Given the description of an element on the screen output the (x, y) to click on. 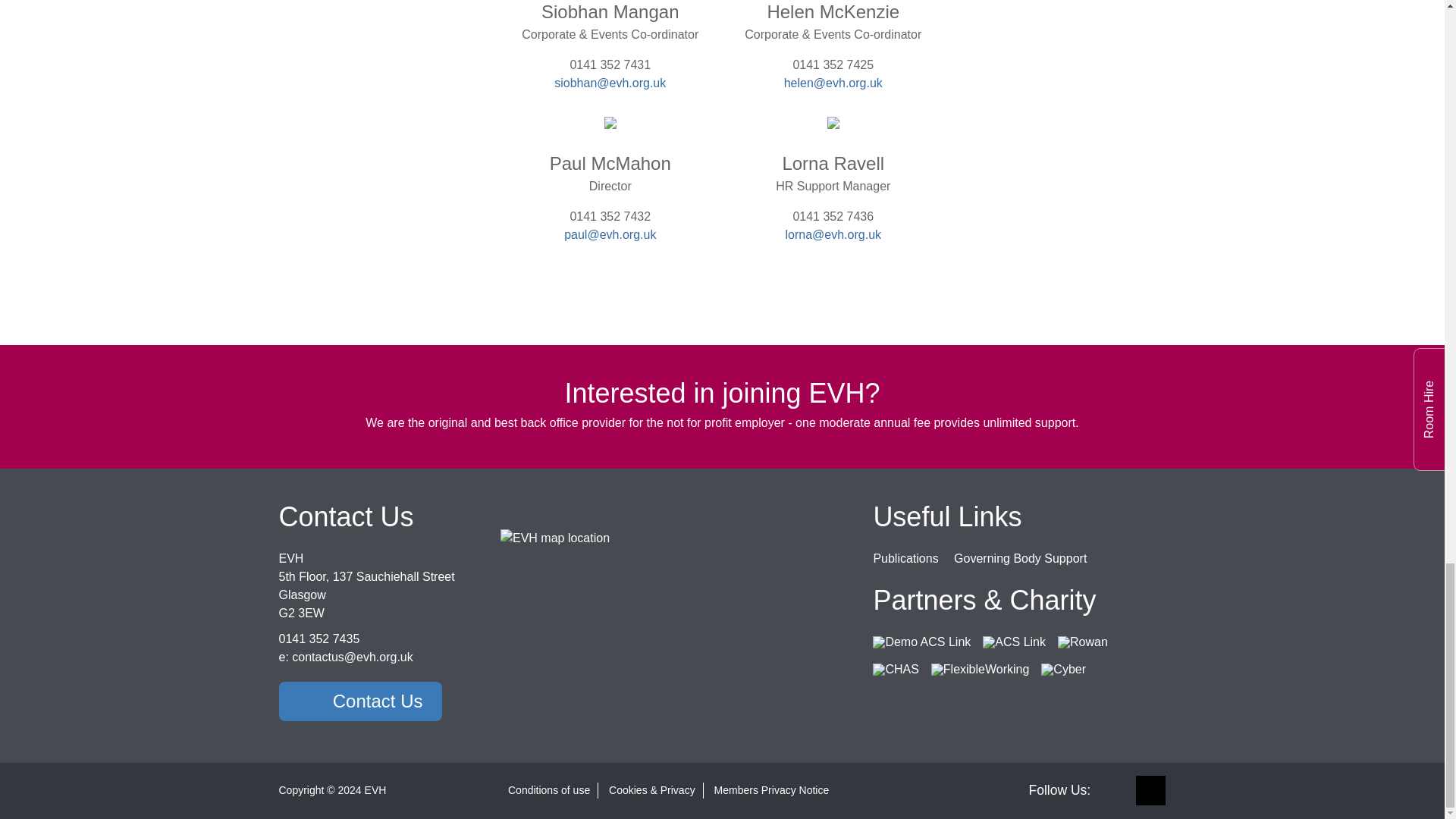
View on Google Maps (555, 536)
Twitter (1150, 790)
LinkedIn (1118, 790)
